Given the description of an element on the screen output the (x, y) to click on. 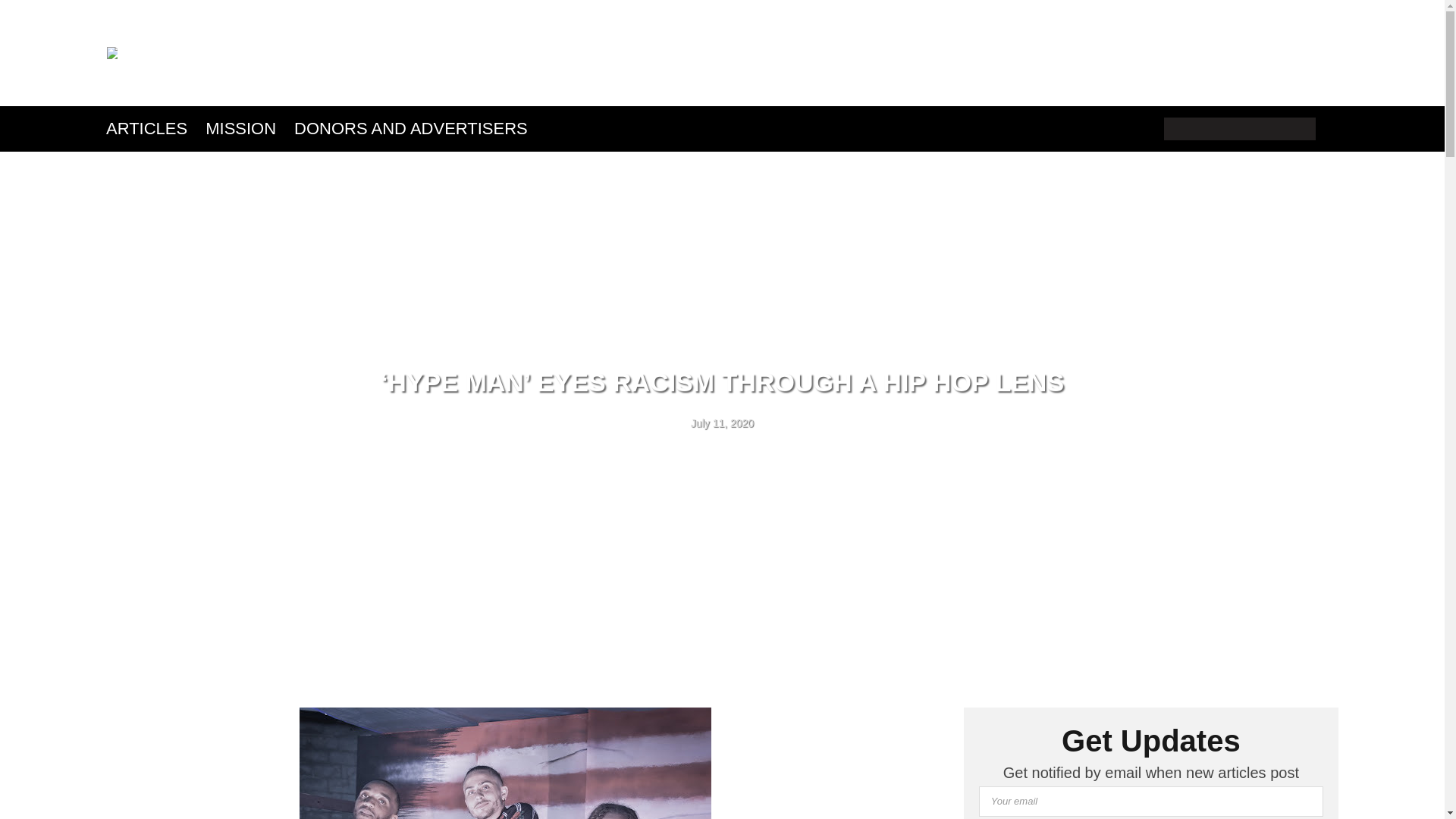
On the Aisle With Tom Alvarez (111, 52)
ARTICLES (149, 128)
MISSION (240, 128)
DONORS AND ADVERTISERS (410, 128)
